Given the description of an element on the screen output the (x, y) to click on. 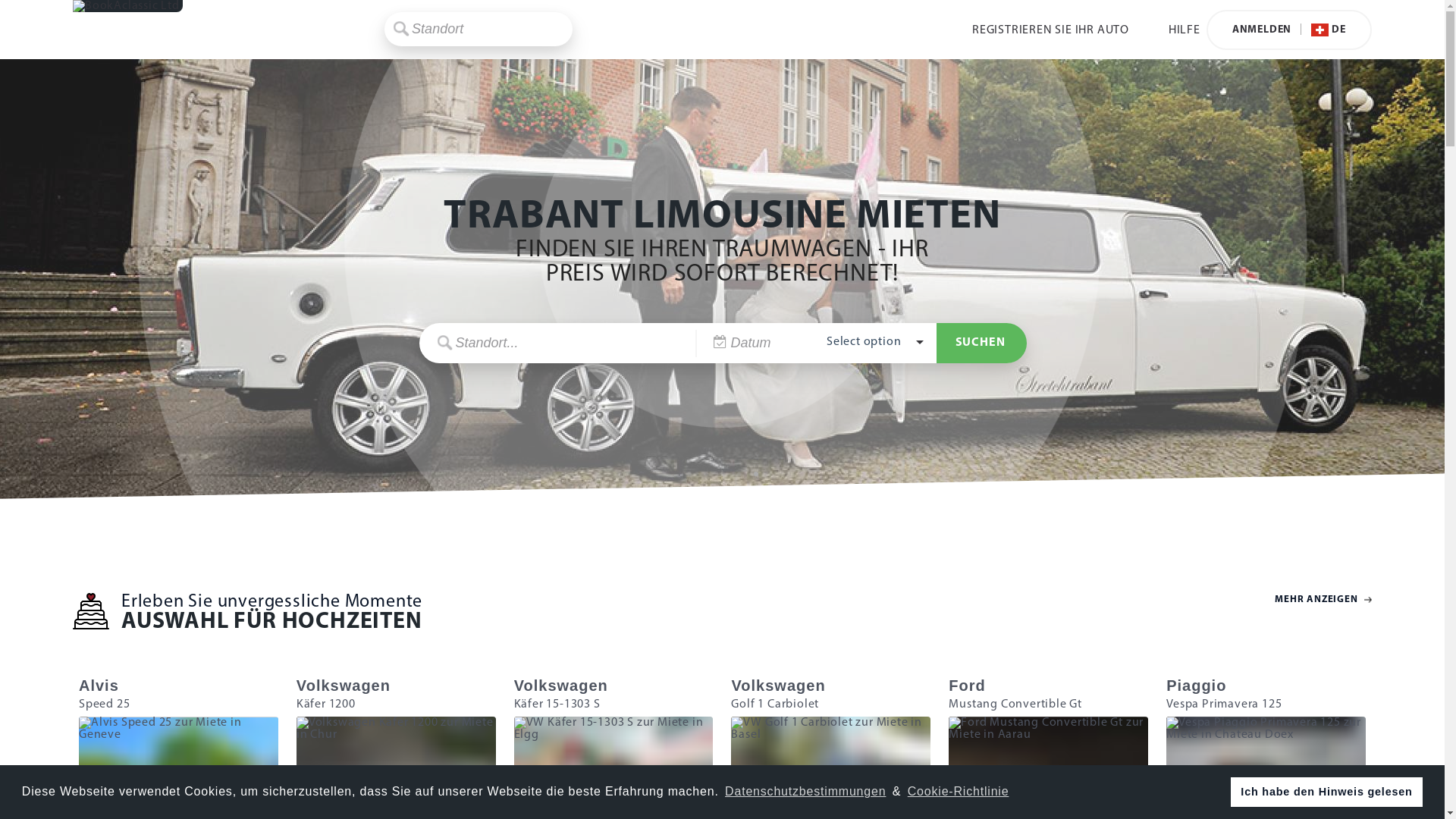
ANMELDEN Element type: text (1261, 29)
DE Element type: text (1323, 29)
MEHR ANZEIGEN Element type: text (1313, 613)
REGISTRIEREN SIE IHR AUTO Element type: text (1050, 30)
Cookie-Richtlinie Element type: text (958, 791)
Datenschutzbestimmungen Element type: text (805, 791)
HILFE Element type: text (1184, 30)
Ich habe den Hinweis gelesen Element type: text (1326, 791)
SUCHEN Element type: text (981, 343)
